Given the description of an element on the screen output the (x, y) to click on. 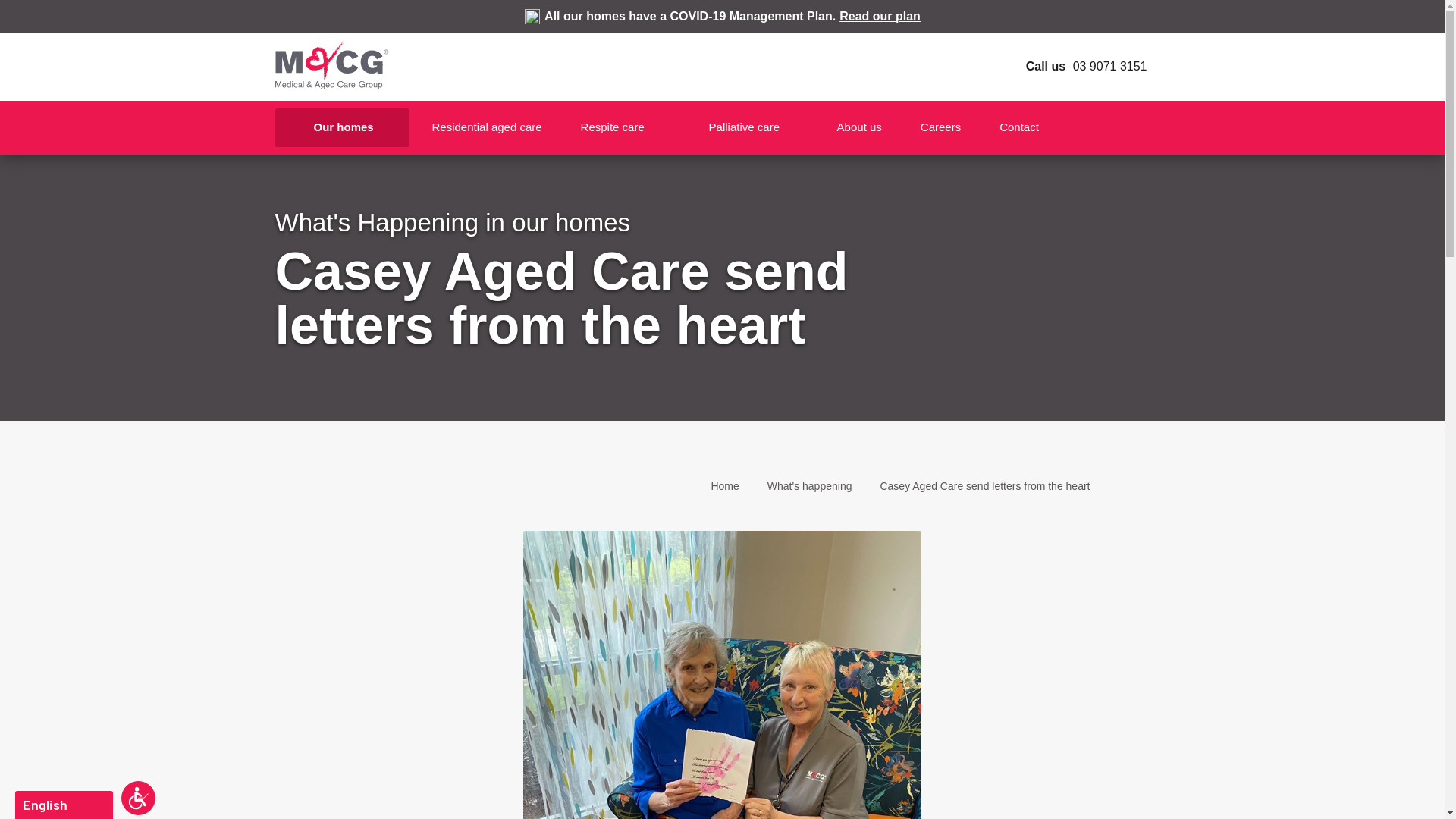
Respite care Element type: text (625, 127)
Contact Element type: text (1028, 127)
Careers Element type: text (940, 127)
What's happening Element type: text (809, 486)
Read our plan Element type: text (879, 15)
About us Element type: text (859, 127)
Residential aged care Element type: text (486, 127)
Palliative care Element type: text (753, 127)
Home Element type: text (724, 486)
Call us 03 9071 3151 Element type: text (1074, 67)
Our homes Element type: text (339, 127)
